Given the description of an element on the screen output the (x, y) to click on. 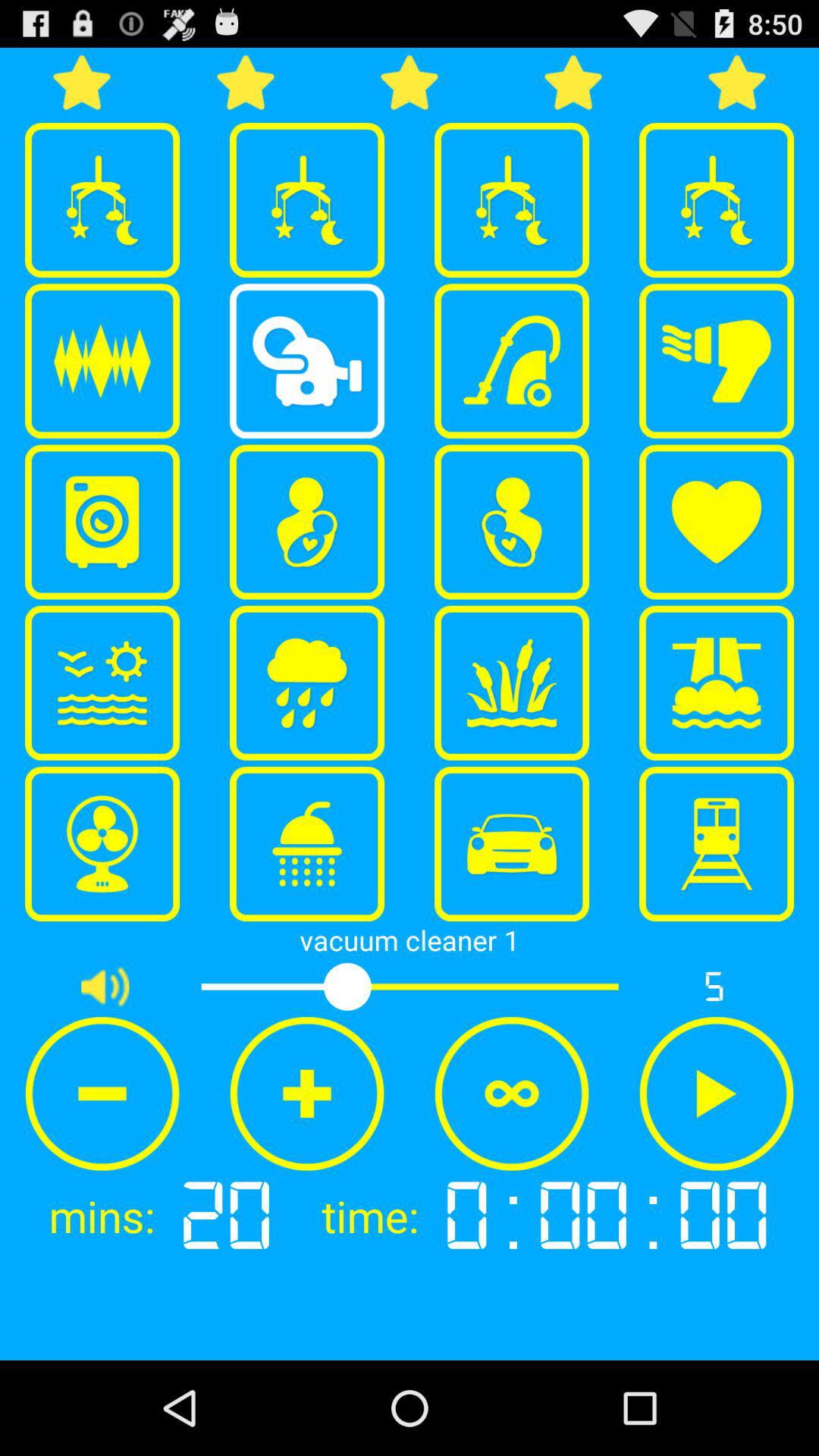
open the app above time: (511, 1093)
